Given the description of an element on the screen output the (x, y) to click on. 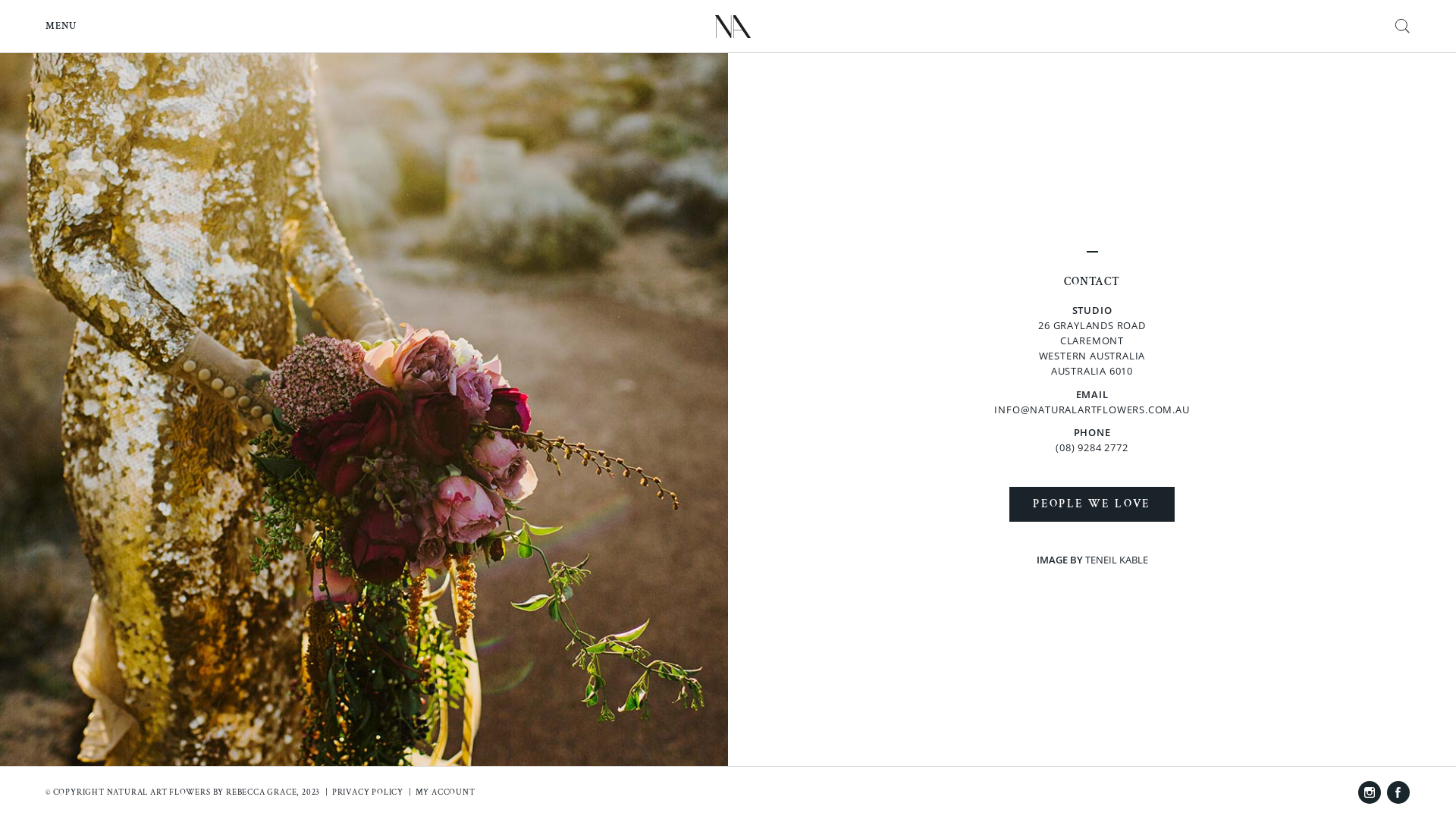
Search Element type: text (1402, 16)
TENEIL KABLE Element type: text (1115, 559)
PEOPLE WE LOVE Element type: text (1091, 503)
PRIVACY POLICY Element type: text (367, 792)
MY ACCOUNT Element type: text (445, 792)
INFO@NATURALARTFLOWERS.COM.AU Element type: text (1091, 409)
